Given the description of an element on the screen output the (x, y) to click on. 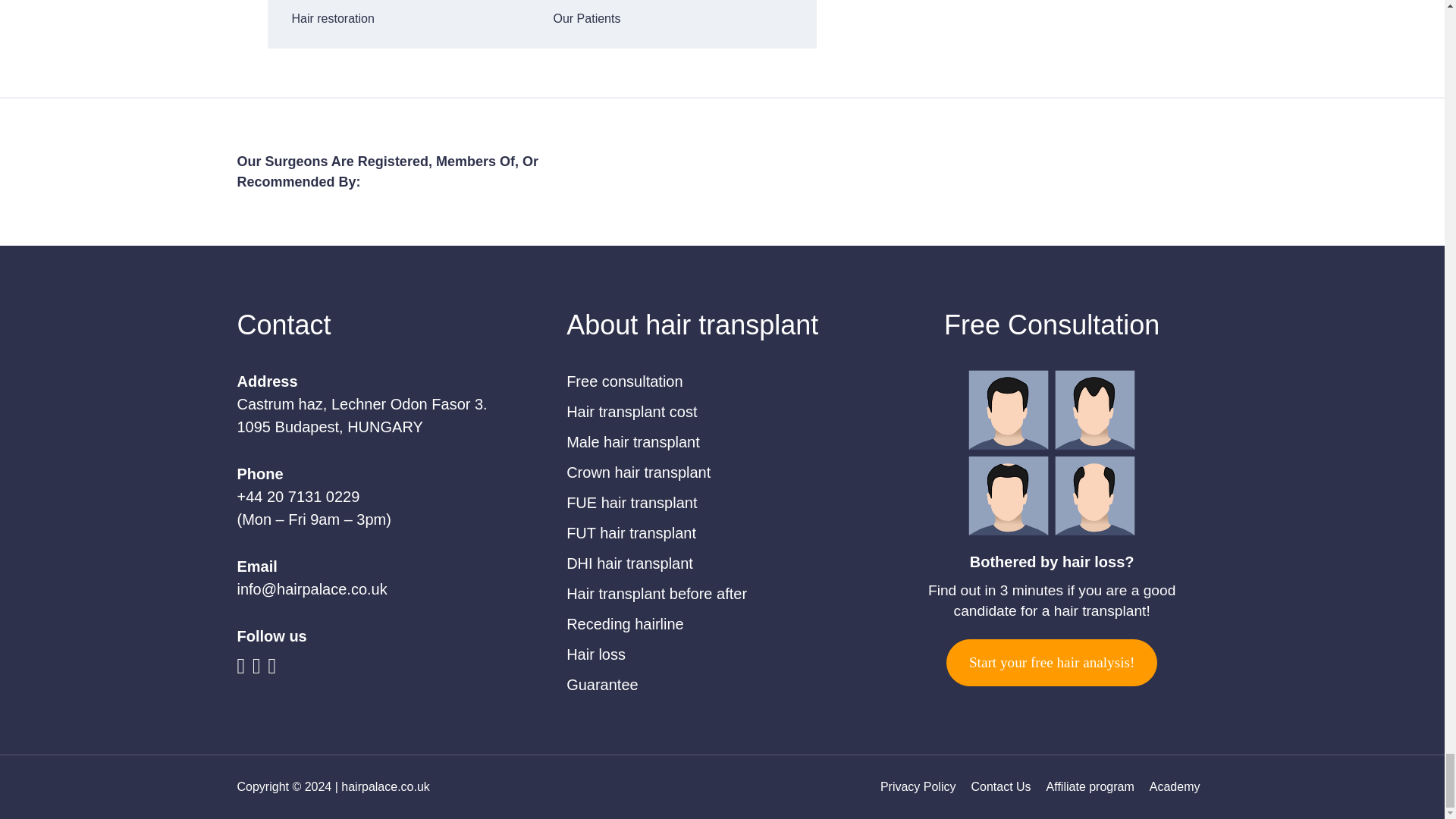
Instagram (275, 668)
Facebook (243, 668)
Youtube (259, 668)
